Given the description of an element on the screen output the (x, y) to click on. 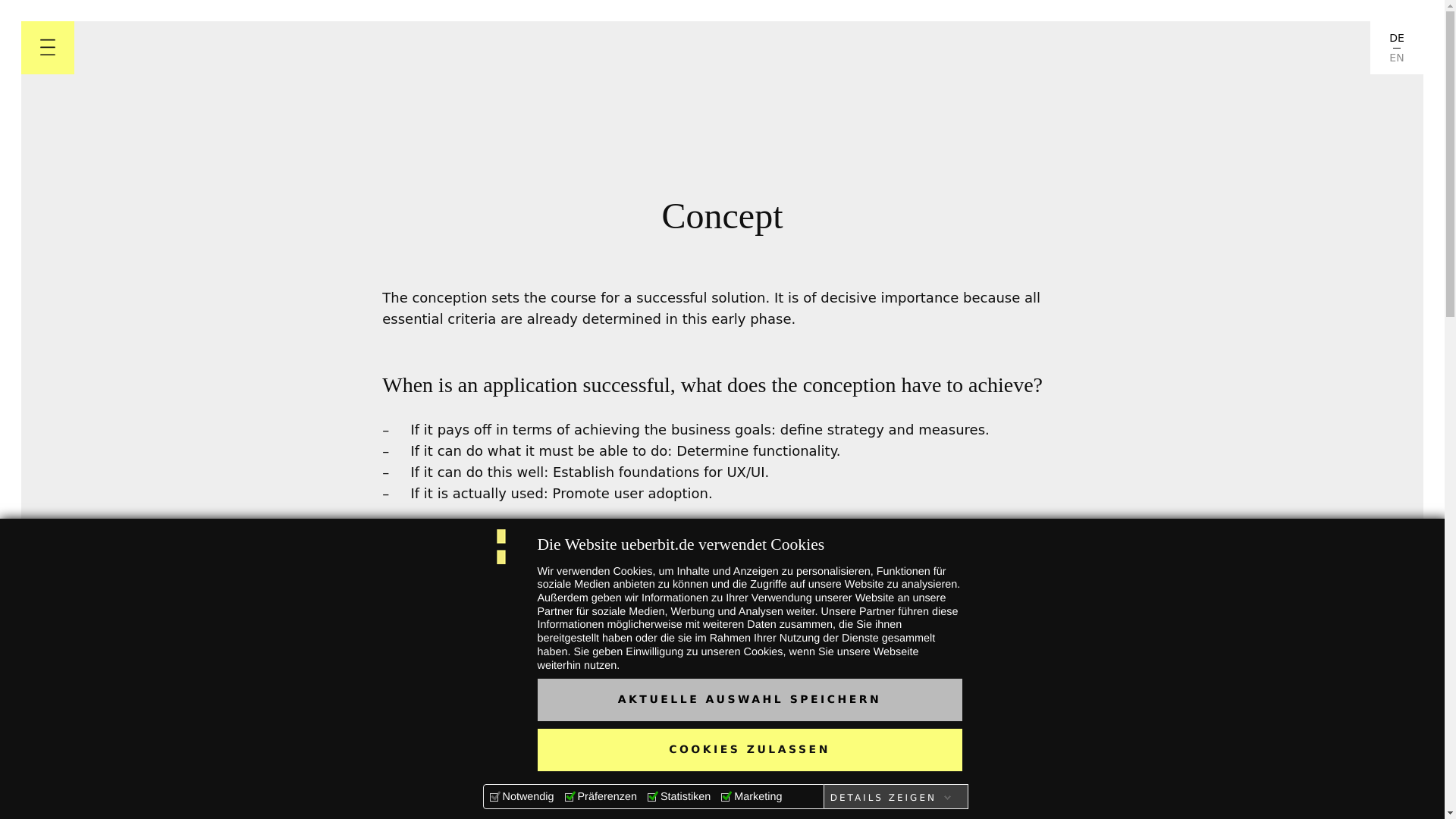
DETAILS ZEIGEN (891, 797)
COOKIES ZULASSEN (748, 749)
AKTUELLE AUSWAHL SPEICHERN (748, 699)
